Given the description of an element on the screen output the (x, y) to click on. 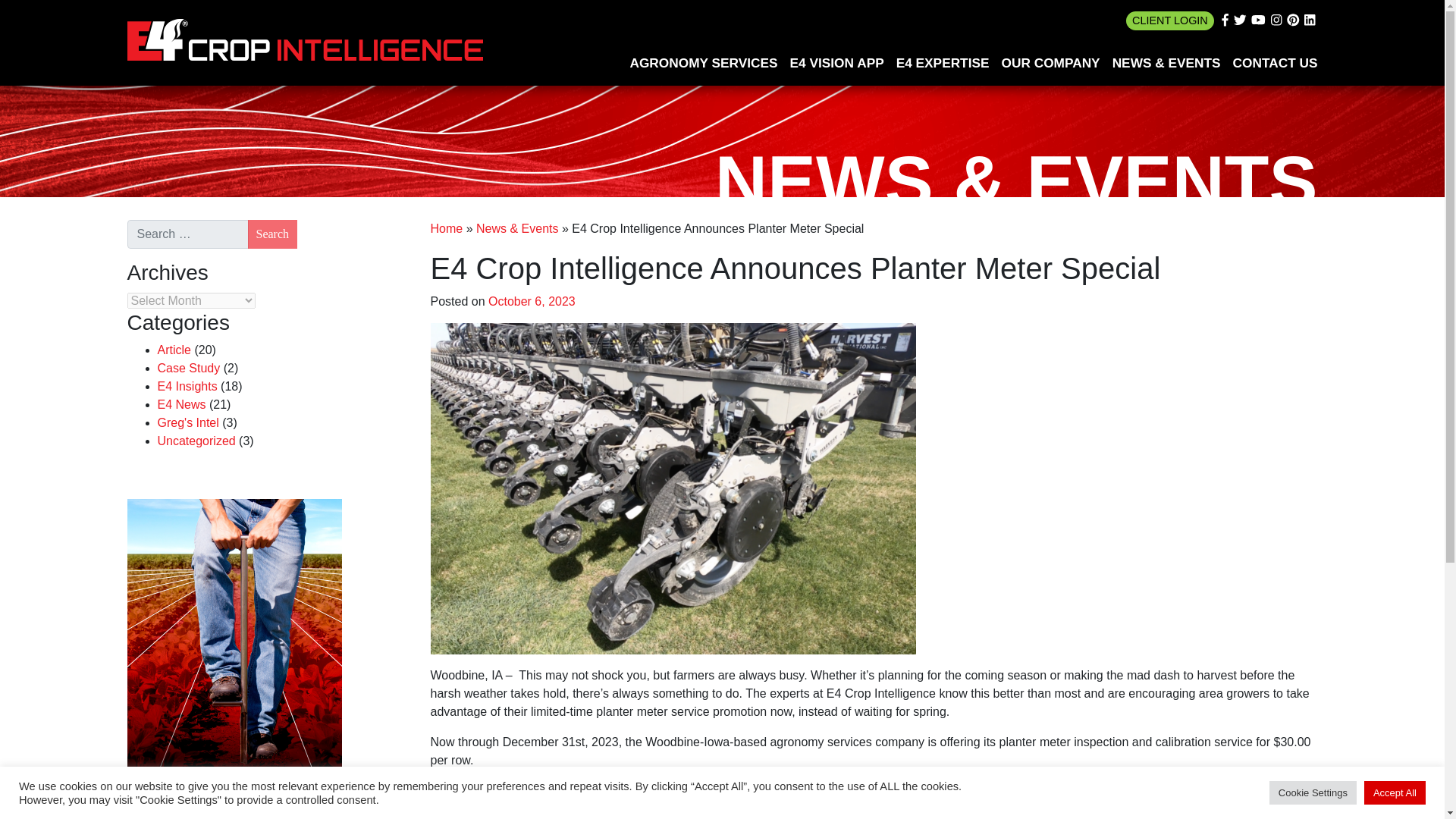
FOLLOW US ON FACEBOOK (1224, 20)
FOLLOW US ON TWITTER (1239, 20)
FOLLOW US ON PINTERES (1293, 20)
E4 EXPERTISE (942, 63)
Follow us on Twitter (1239, 19)
CLIENT LOGIN (1169, 20)
FOLLOW US ON TWITTER (1239, 19)
Follow us on LinkedIn (1309, 19)
Follow us on Facebook (1224, 19)
FOLLOW US ON LINKEDIN (1309, 20)
Follow us on Pinteres (1292, 19)
FOLLOW US ON PINTERES (1292, 19)
FOLLOW US ON INSTAGRAM (1276, 19)
FOLLOW US ON YOUTUBE (1257, 20)
FOLLOW US ON LINKEDIN (1309, 19)
